Given the description of an element on the screen output the (x, y) to click on. 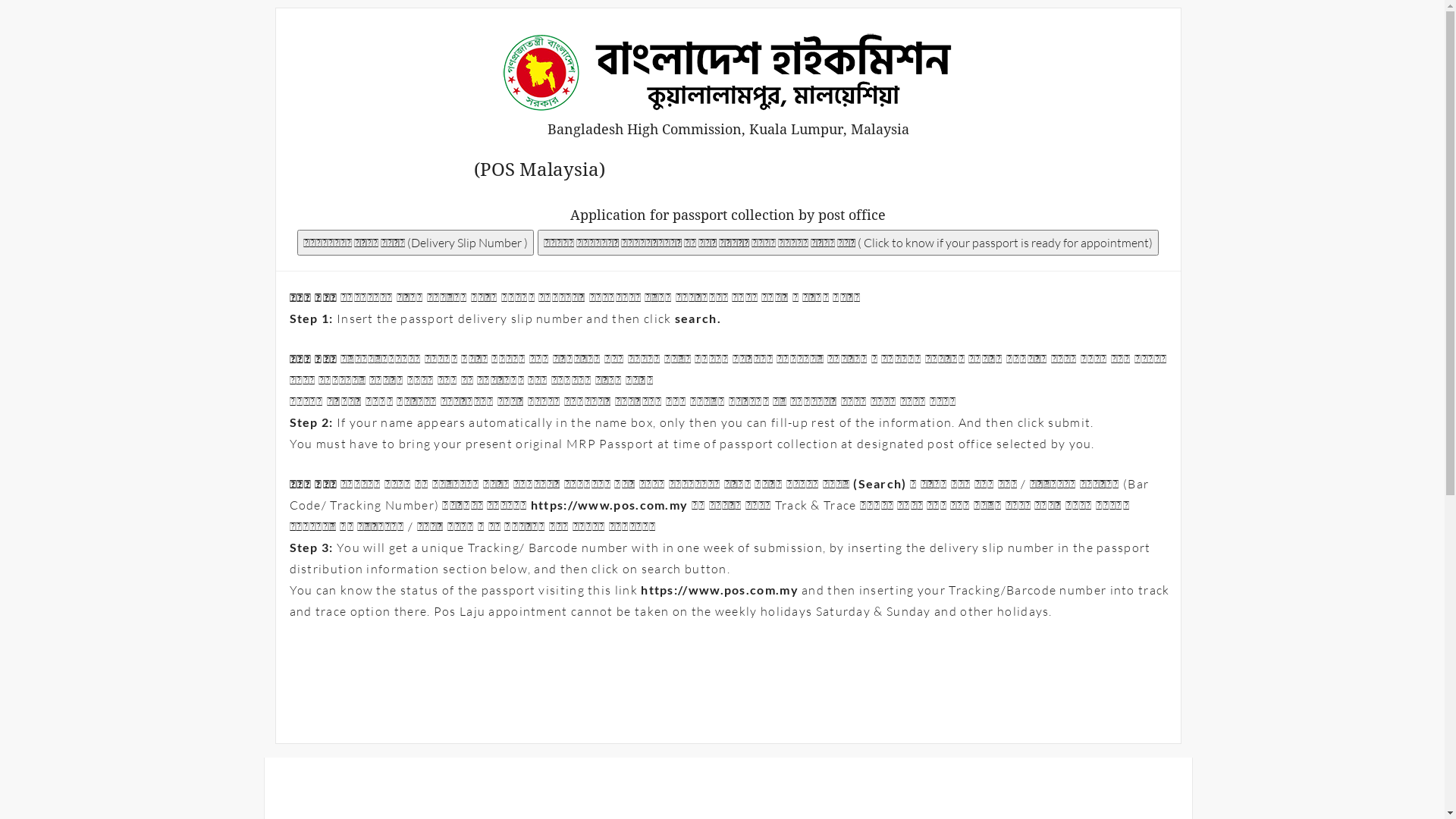
https://www.pos.com.my Element type: text (610, 504)
https://www.pos.com.my Element type: text (720, 589)
